Given the description of an element on the screen output the (x, y) to click on. 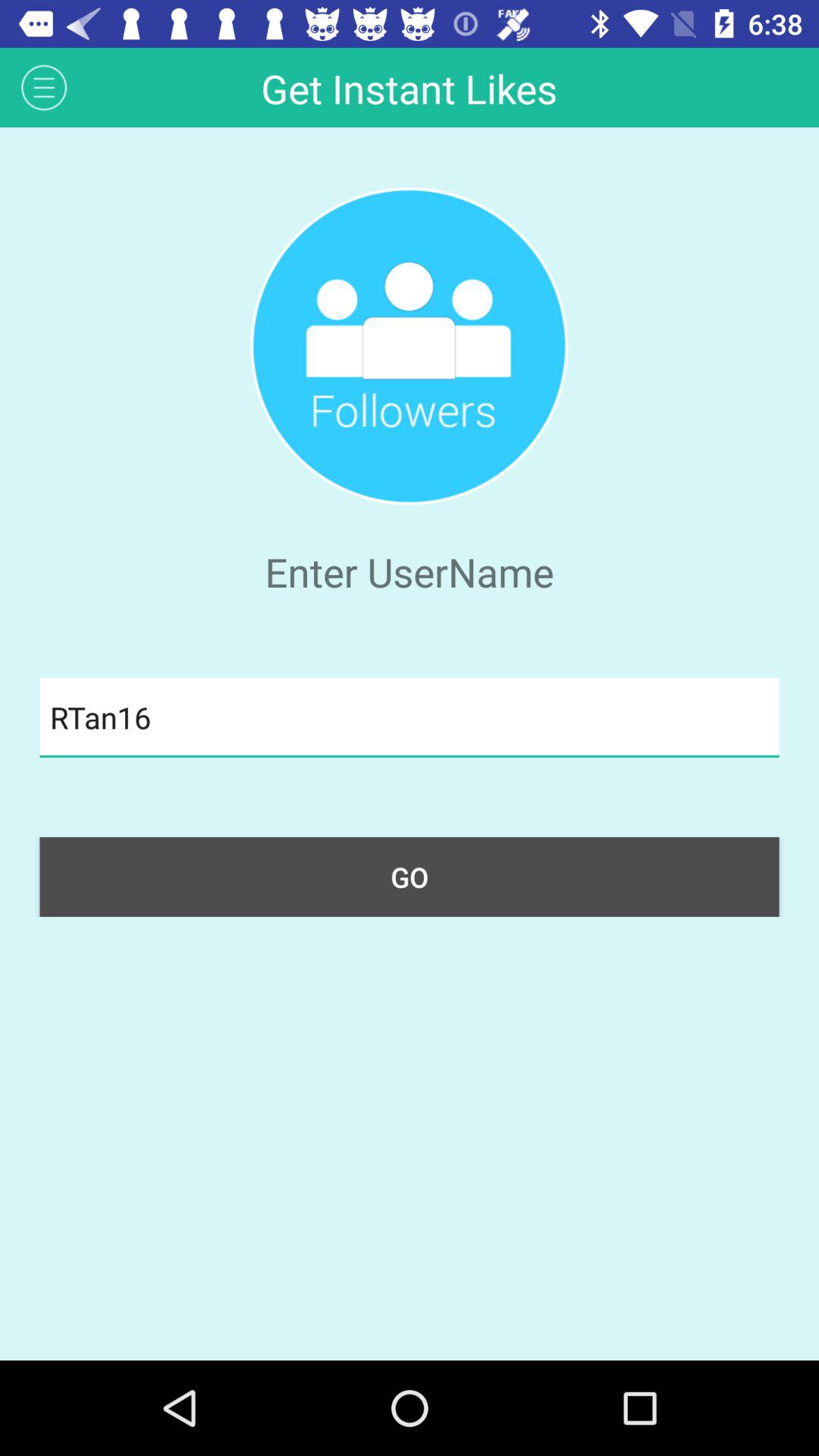
flip to the rtan16 (409, 717)
